Given the description of an element on the screen output the (x, y) to click on. 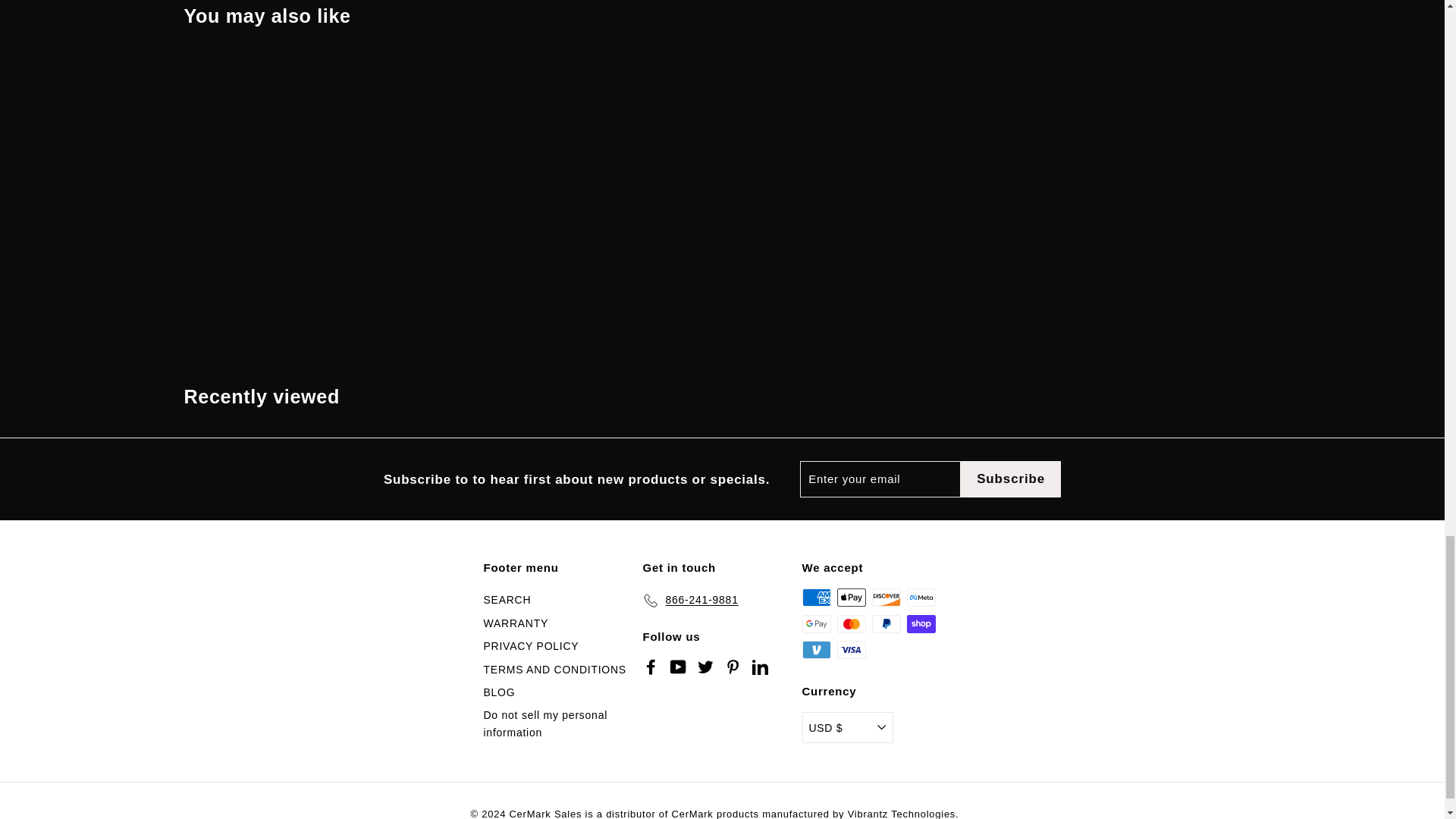
Venmo (816, 649)
CerMark Sales on Facebook (651, 665)
CerMark Sales on Twitter (705, 665)
Shop Pay (921, 624)
CerMark Sales on Pinterest (733, 665)
American Express (816, 597)
CerMark Sales on LinkedIn (760, 665)
CerMark Sales on YouTube (677, 665)
Apple Pay (851, 597)
Visa (851, 649)
Google Pay (816, 624)
Mastercard (851, 624)
Discover (886, 597)
PayPal (886, 624)
Meta Pay (921, 597)
